Given the description of an element on the screen output the (x, y) to click on. 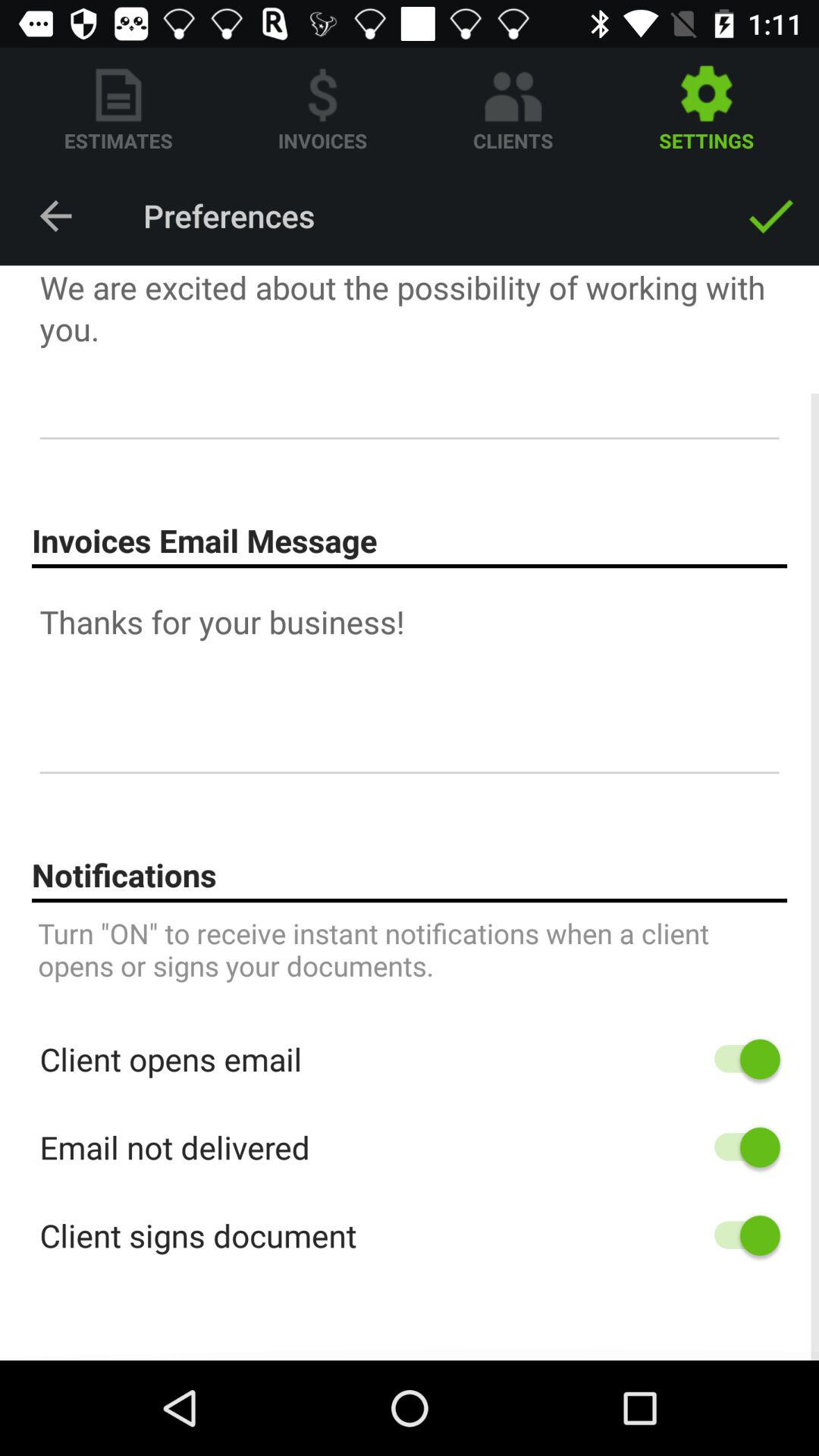
toggle notification for client opens email (739, 1059)
